Given the description of an element on the screen output the (x, y) to click on. 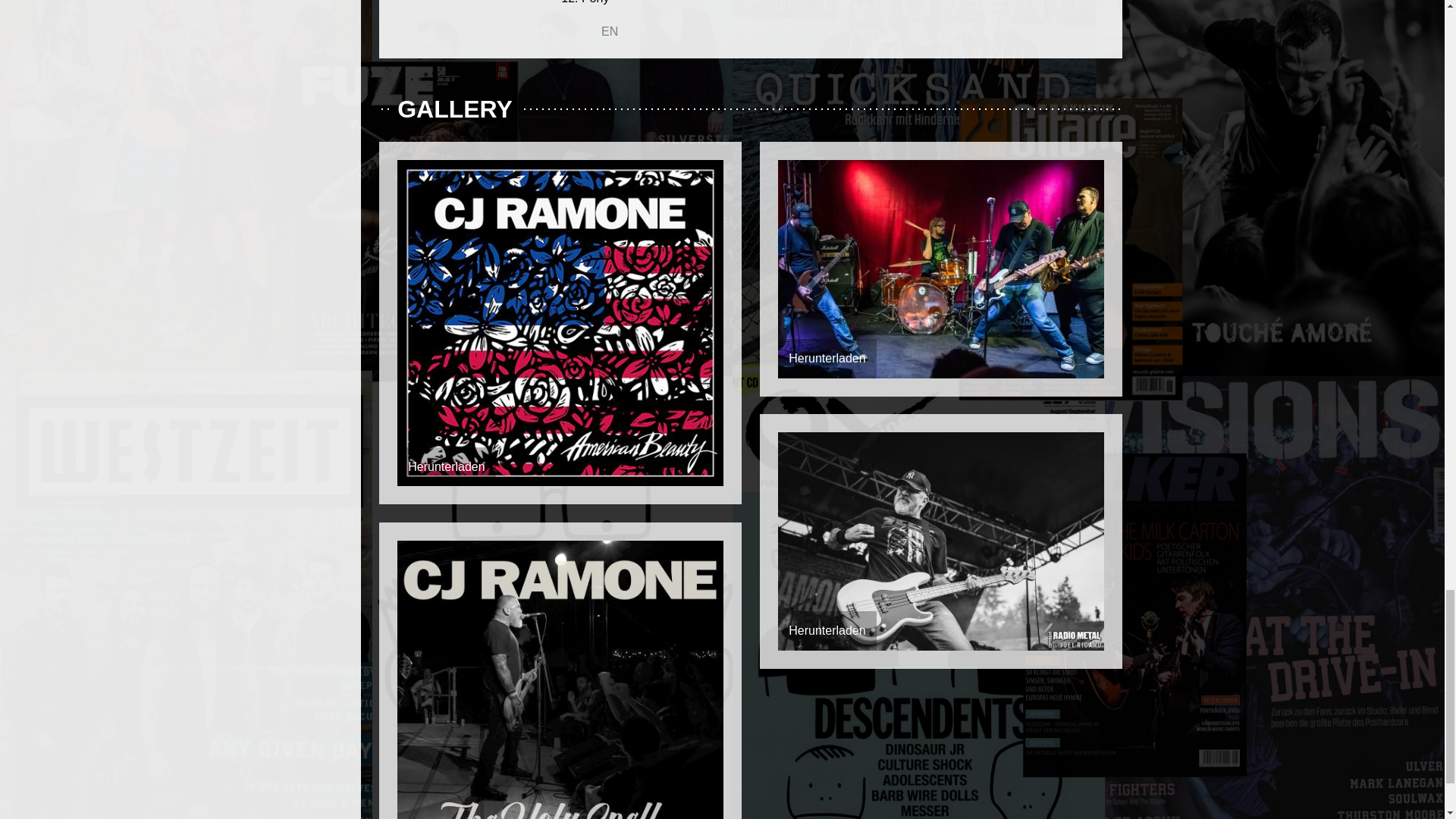
Herunterladen (826, 358)
Herunterladen (445, 466)
Herunterladen (826, 630)
